Given the description of an element on the screen output the (x, y) to click on. 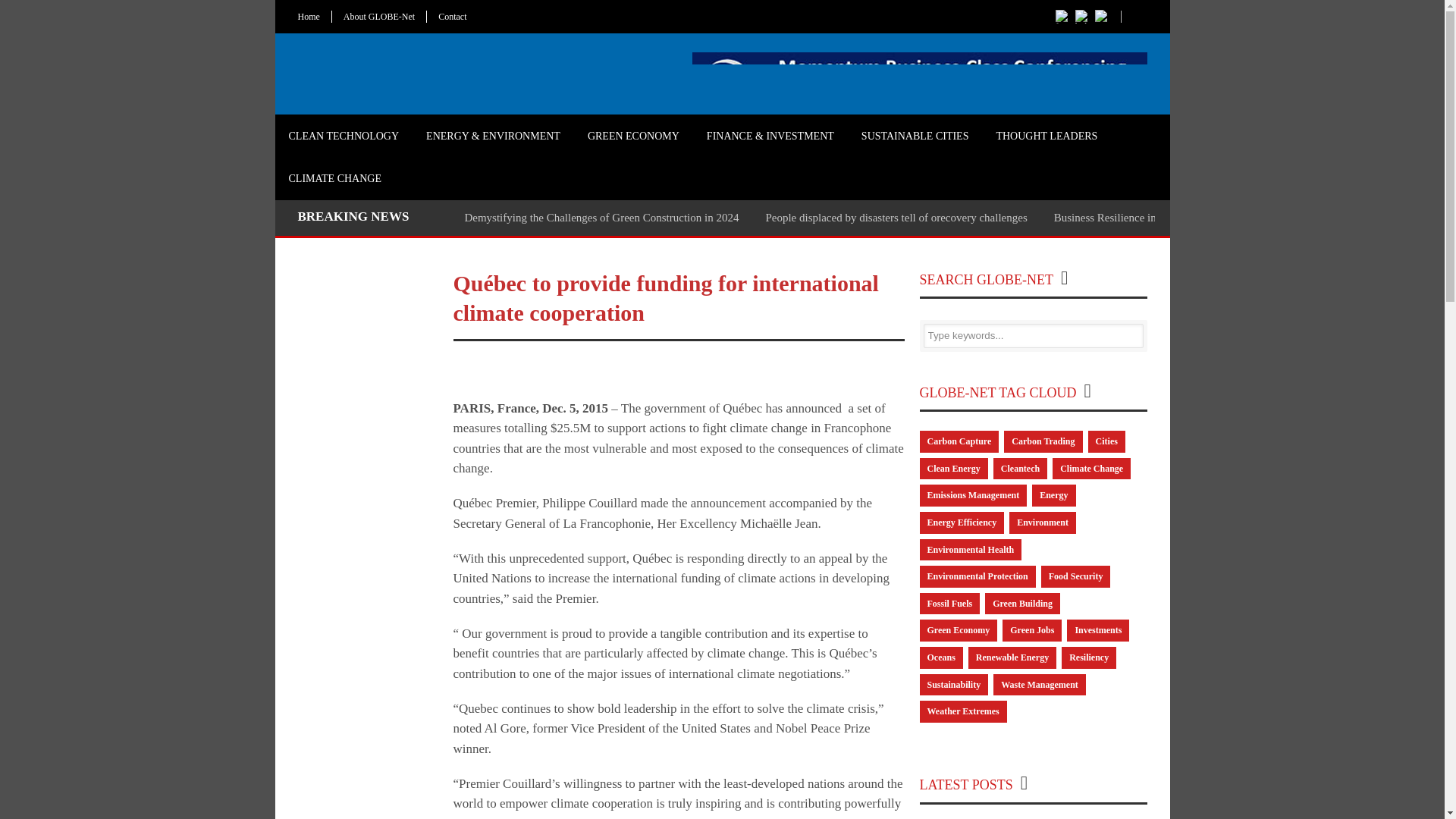
118 topics (1019, 468)
Business Resilience in the Face of Environmental Uncertainty (1195, 217)
156 topics (952, 468)
252 topics (1091, 468)
53 topics (1053, 495)
Contact (451, 16)
Carbon Capture (958, 441)
People displaced by disasters tell of orecovery challenges (895, 217)
34 topics (958, 441)
CLEAN TECHNOLOGY (343, 136)
THOUGHT LEADERS (1045, 136)
About GLOBE-Net (378, 16)
Cleantech (1019, 468)
Clean Energy (952, 468)
Demystifying the Challenges of Green Construction in 2024 (601, 217)
